Given the description of an element on the screen output the (x, y) to click on. 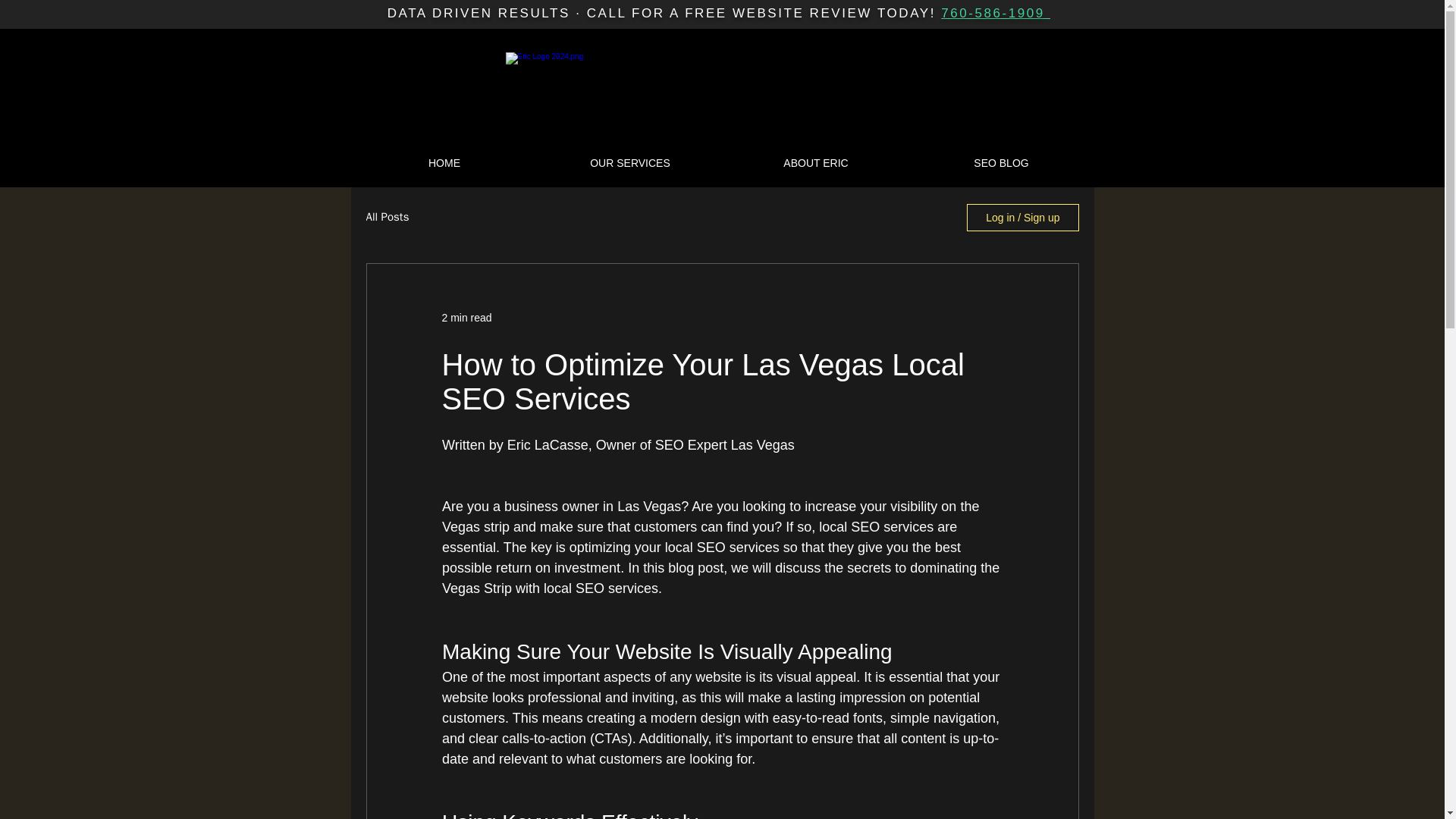
760-586-1909  (994, 12)
SEO BLOG (1000, 163)
All Posts (387, 216)
2 min read (466, 317)
OUR SERVICES (629, 163)
ABOUT ERIC (815, 163)
HOME (444, 163)
